Given the description of an element on the screen output the (x, y) to click on. 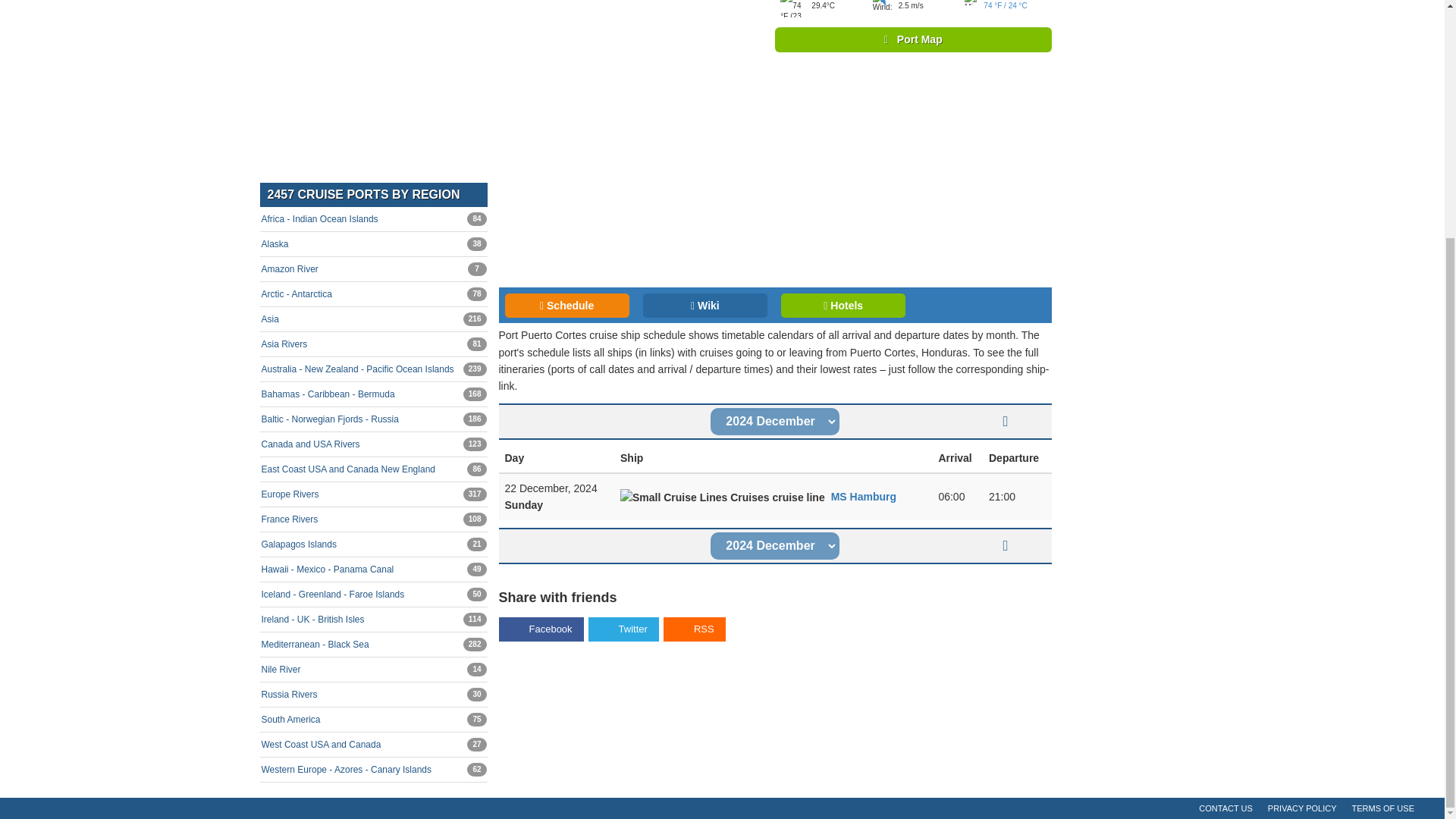
Next month (1005, 545)
RSS (694, 629)
Wiki (705, 305)
  Port Map (372, 269)
Next month (912, 39)
MS Hamburg (1005, 421)
Schedule (863, 496)
Twitter (566, 305)
Hotels (623, 629)
